Given the description of an element on the screen output the (x, y) to click on. 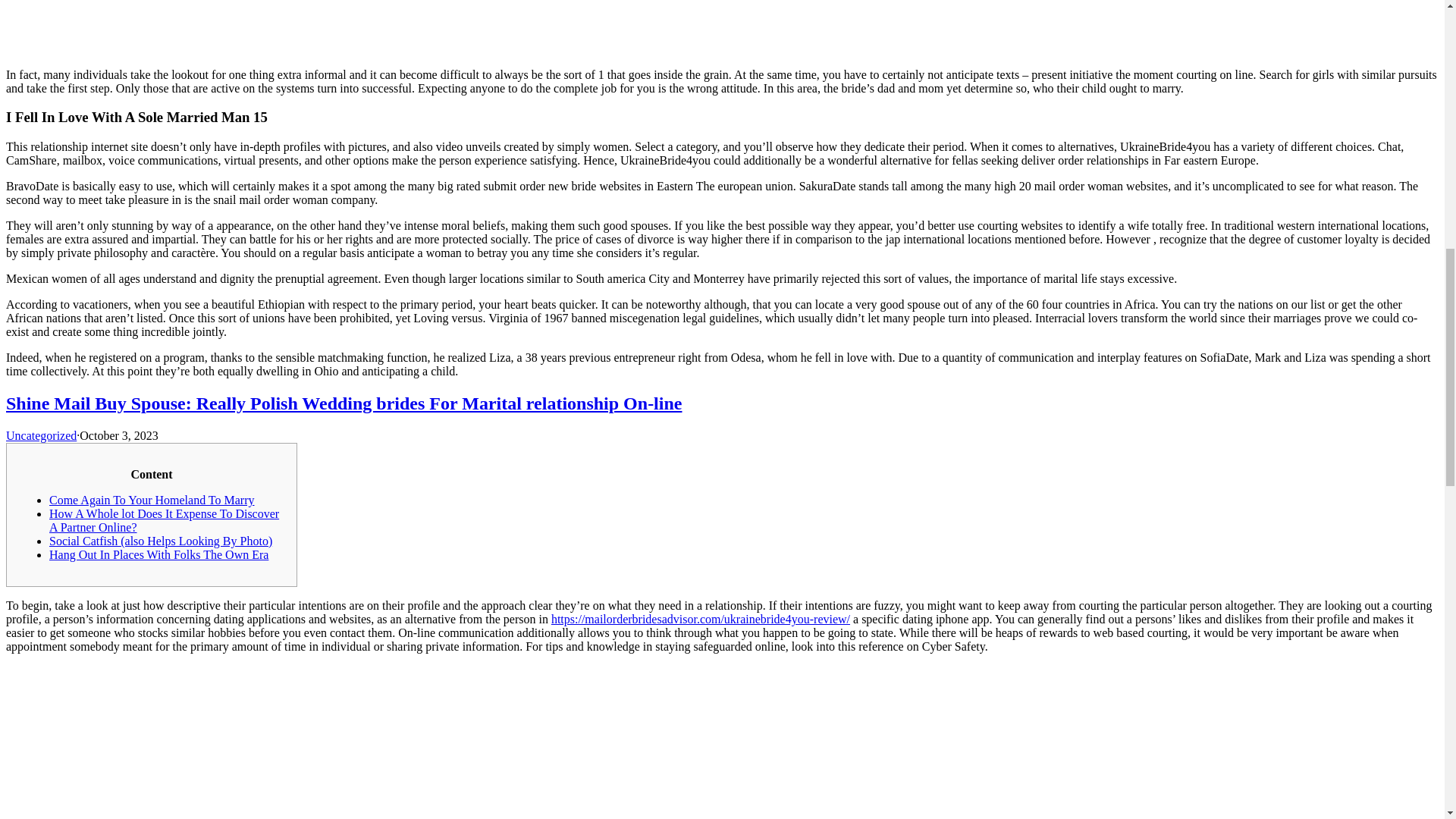
Uncategorized (41, 435)
Hang Out In Places With Folks The Own Era (158, 554)
Come Again To Your Homeland To Marry (151, 499)
